Given the description of an element on the screen output the (x, y) to click on. 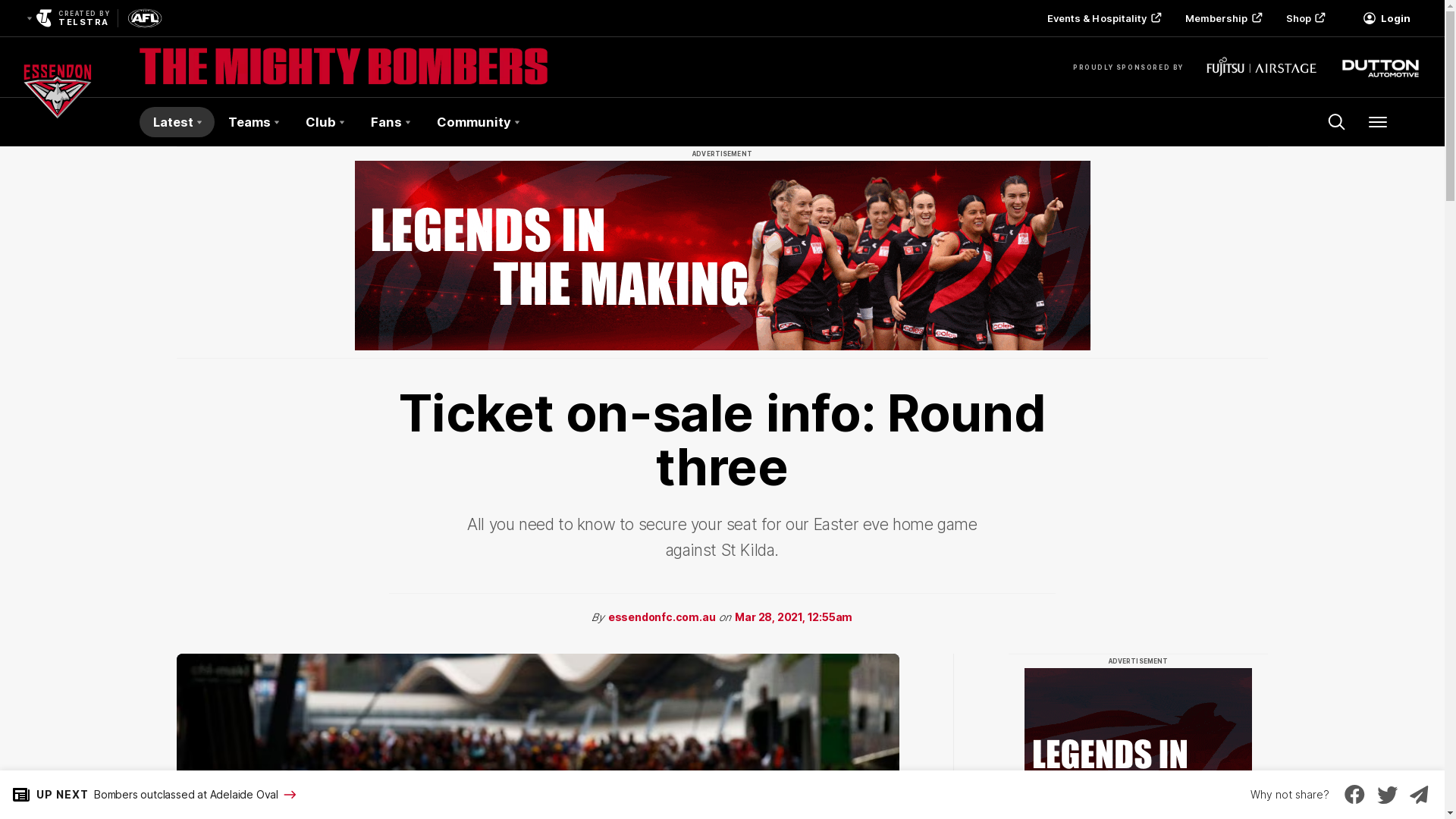
UP NEXT
Bombers outclassed at Adelaide Oval Element type: text (149, 794)
CREATED BY
TELSTRA Element type: text (66, 18)
Teams Element type: text (252, 121)
Latest Element type: text (176, 121)
Club Element type: text (324, 121)
Menu Element type: text (1377, 121)
3rd party ad content Element type: hover (722, 255)
Membership Element type: text (1221, 18)
Events & Hospitality Element type: text (1102, 18)
Fans Element type: text (390, 121)
Shop Element type: text (1303, 18)
Login Element type: text (1386, 18)
Community Element type: text (477, 121)
Club Logo Element type: text (57, 121)
